Given the description of an element on the screen output the (x, y) to click on. 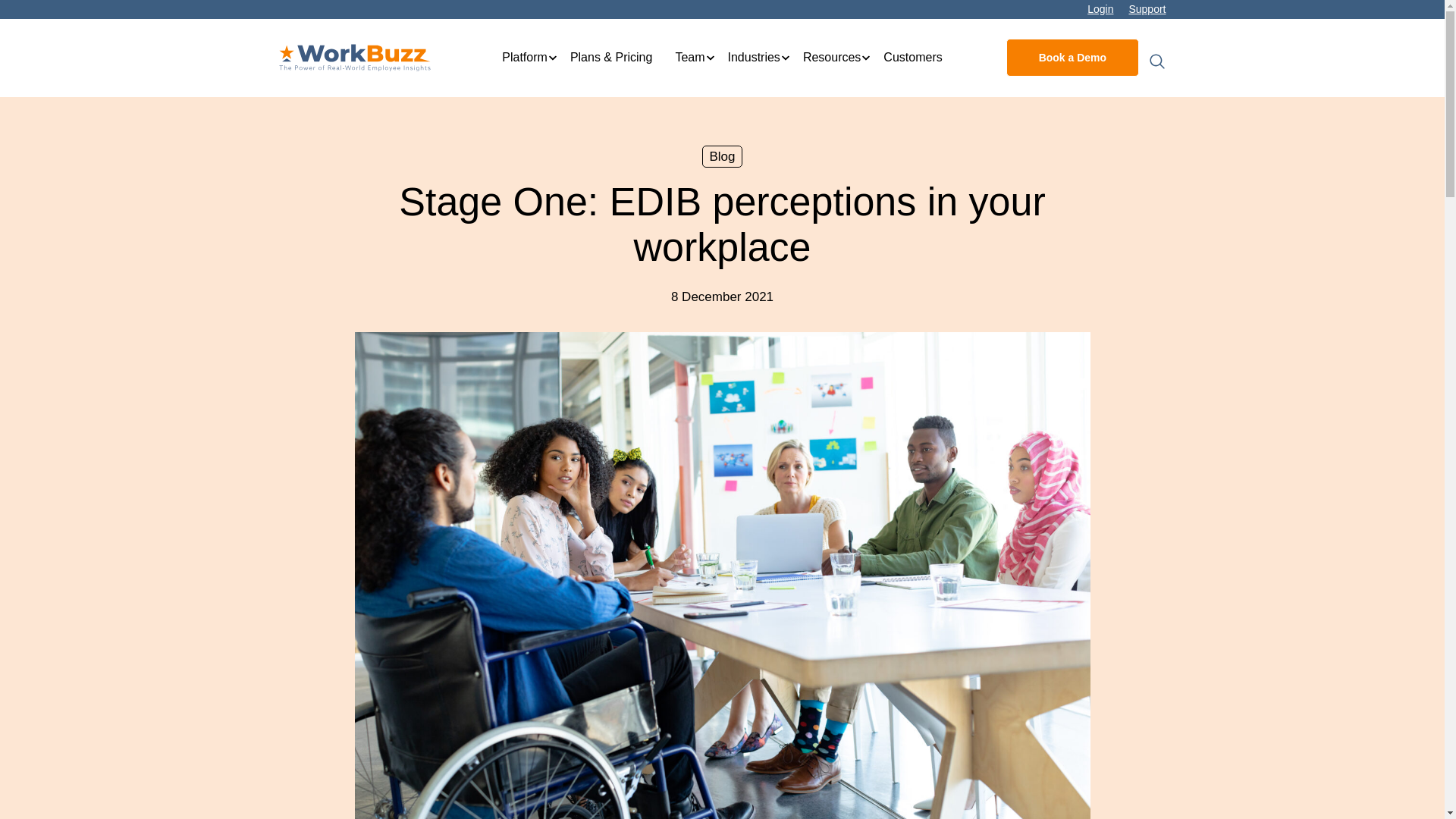
Workbuzz Logo (354, 58)
Customers (912, 57)
Support (1147, 9)
Book a Demo (1072, 57)
Login (1100, 9)
Resources (831, 57)
Platform (524, 57)
Industries (754, 57)
